Given the description of an element on the screen output the (x, y) to click on. 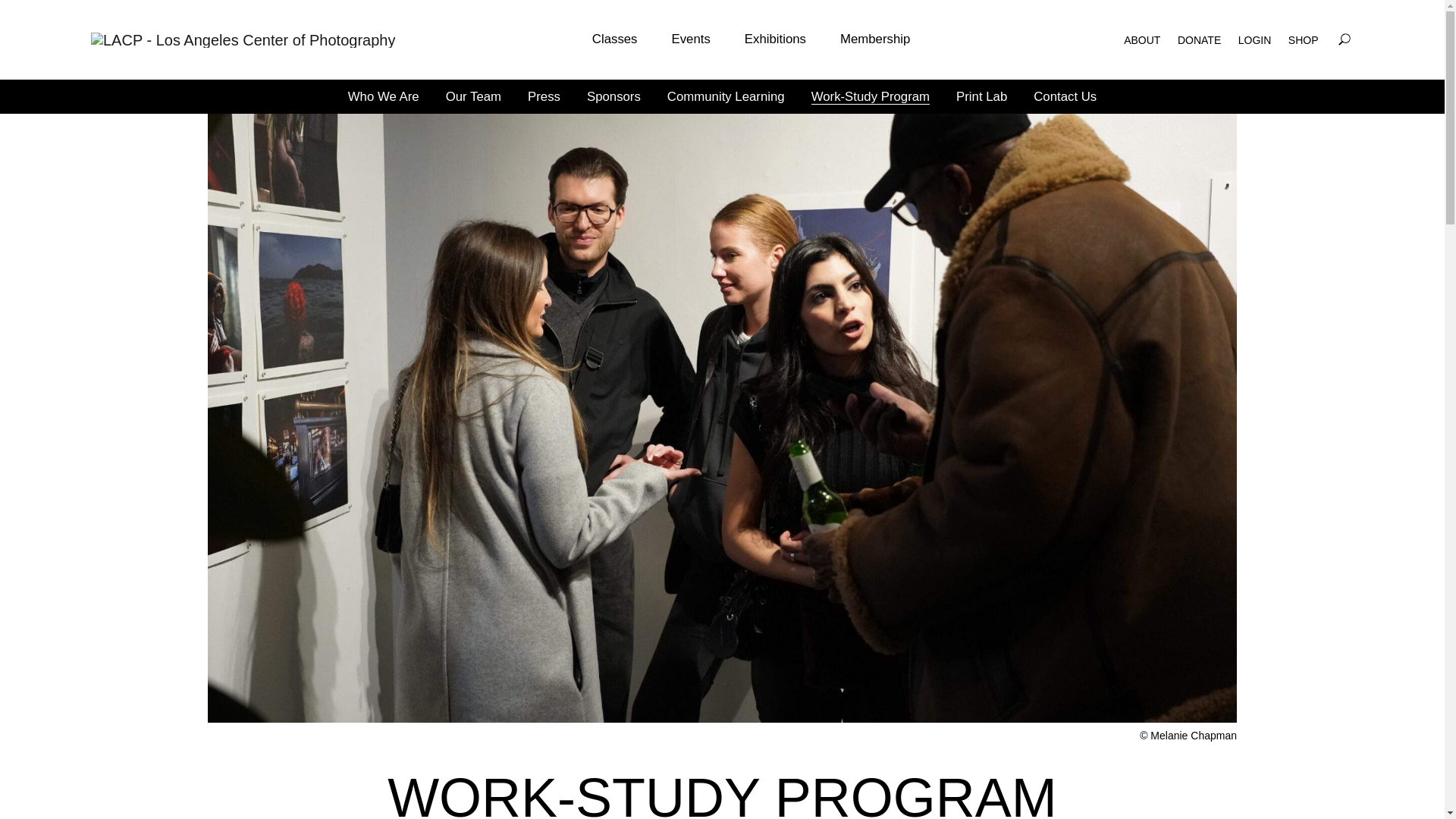
Press (543, 96)
View the LACP Store (1303, 39)
Search this site (1344, 39)
Sponsors (613, 96)
Who We Are (383, 96)
DONATE (1199, 39)
The Los Angeles Center of Photography Homepage (242, 39)
Our Team (472, 96)
Membership (875, 39)
Exhibitions (775, 39)
